Given the description of an element on the screen output the (x, y) to click on. 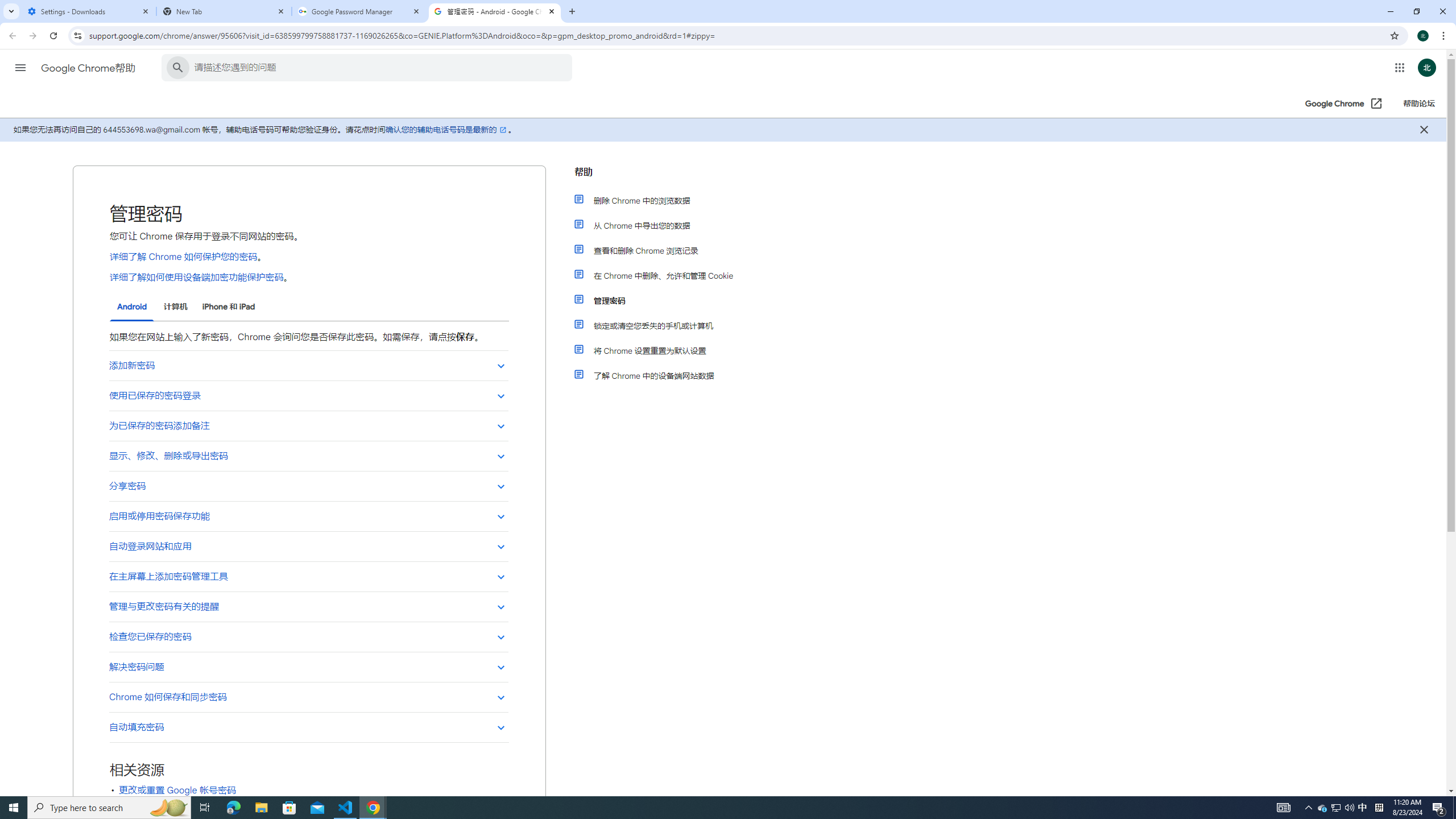
Google Password Manager (359, 11)
